Given the description of an element on the screen output the (x, y) to click on. 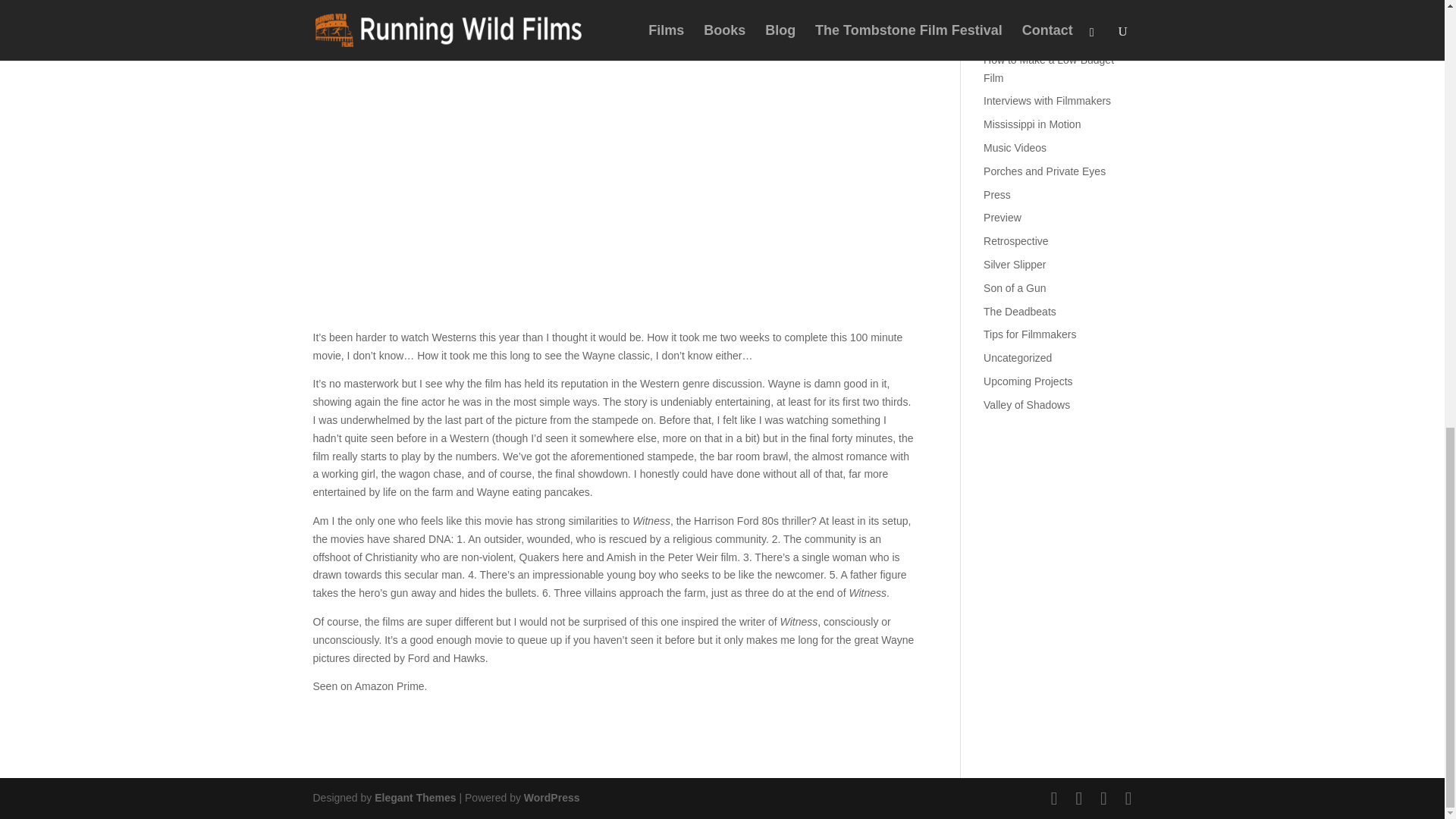
Cornbread Cosa Nostra (1040, 12)
Son of a Gun (1015, 287)
Music Videos (1015, 147)
Tips for Filmmakers (1029, 334)
Interviews with Filmmakers (1047, 101)
Current Projects (1021, 36)
Porches and Private Eyes (1044, 171)
Retrospective (1016, 241)
How to Make a Low-Budget Film (1048, 69)
Mississippi in Motion (1032, 123)
